Given the description of an element on the screen output the (x, y) to click on. 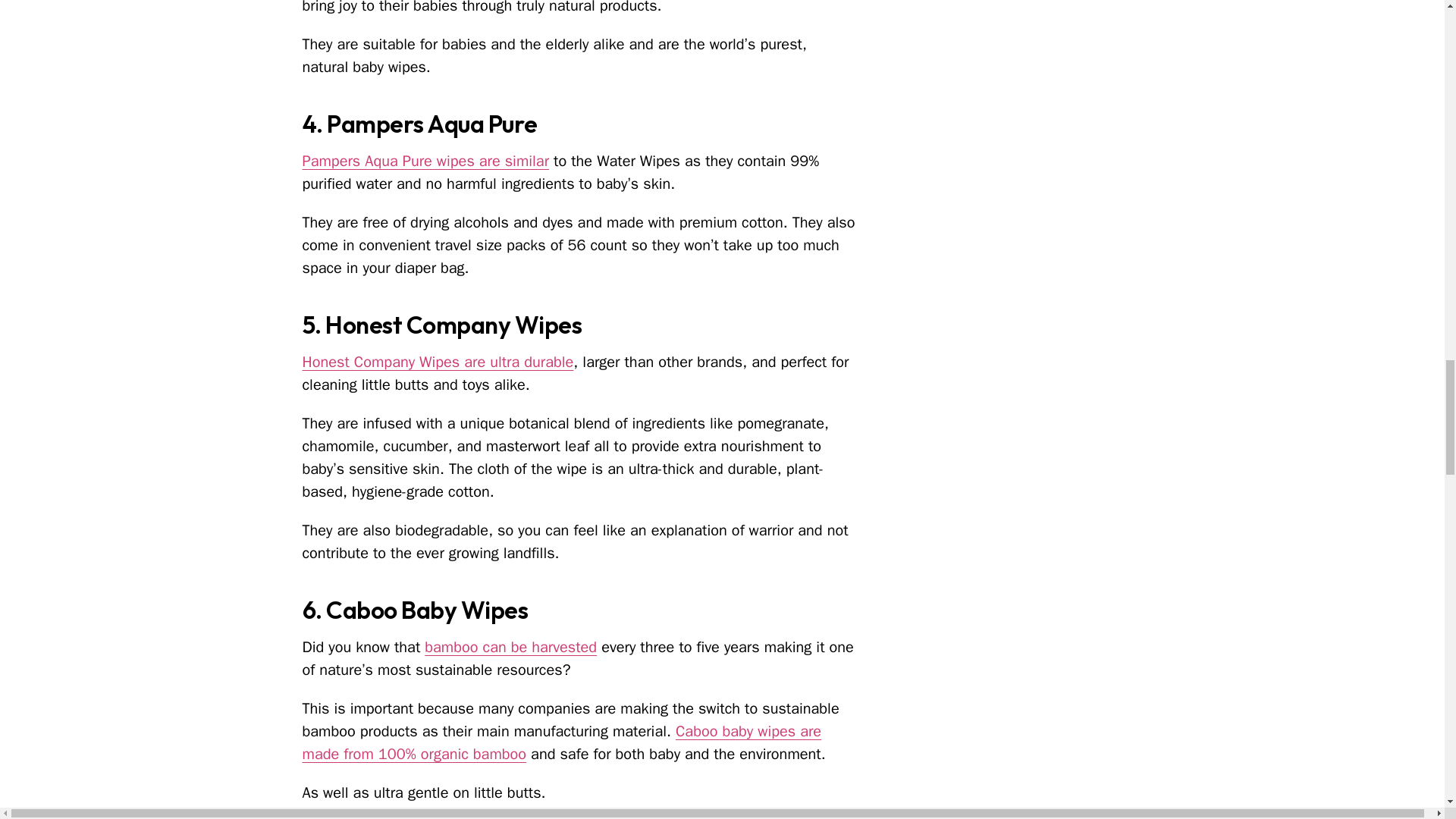
bamboo can be harvested (510, 647)
Honest Company Wipes are ultra durable (437, 361)
Pampers Aqua Pure wipes are similar (424, 160)
